Given the description of an element on the screen output the (x, y) to click on. 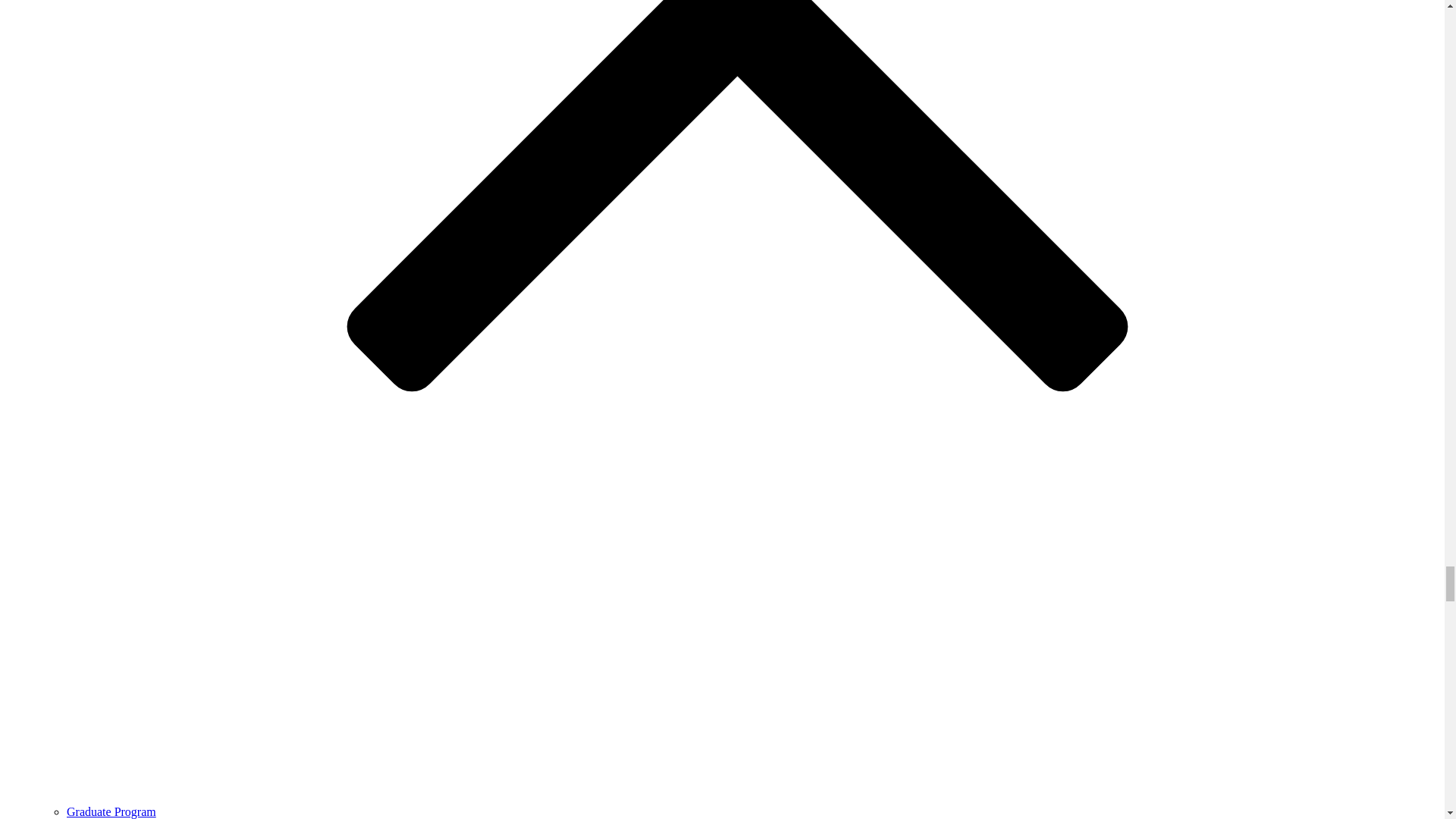
Graduate Program (110, 811)
